Given the description of an element on the screen output the (x, y) to click on. 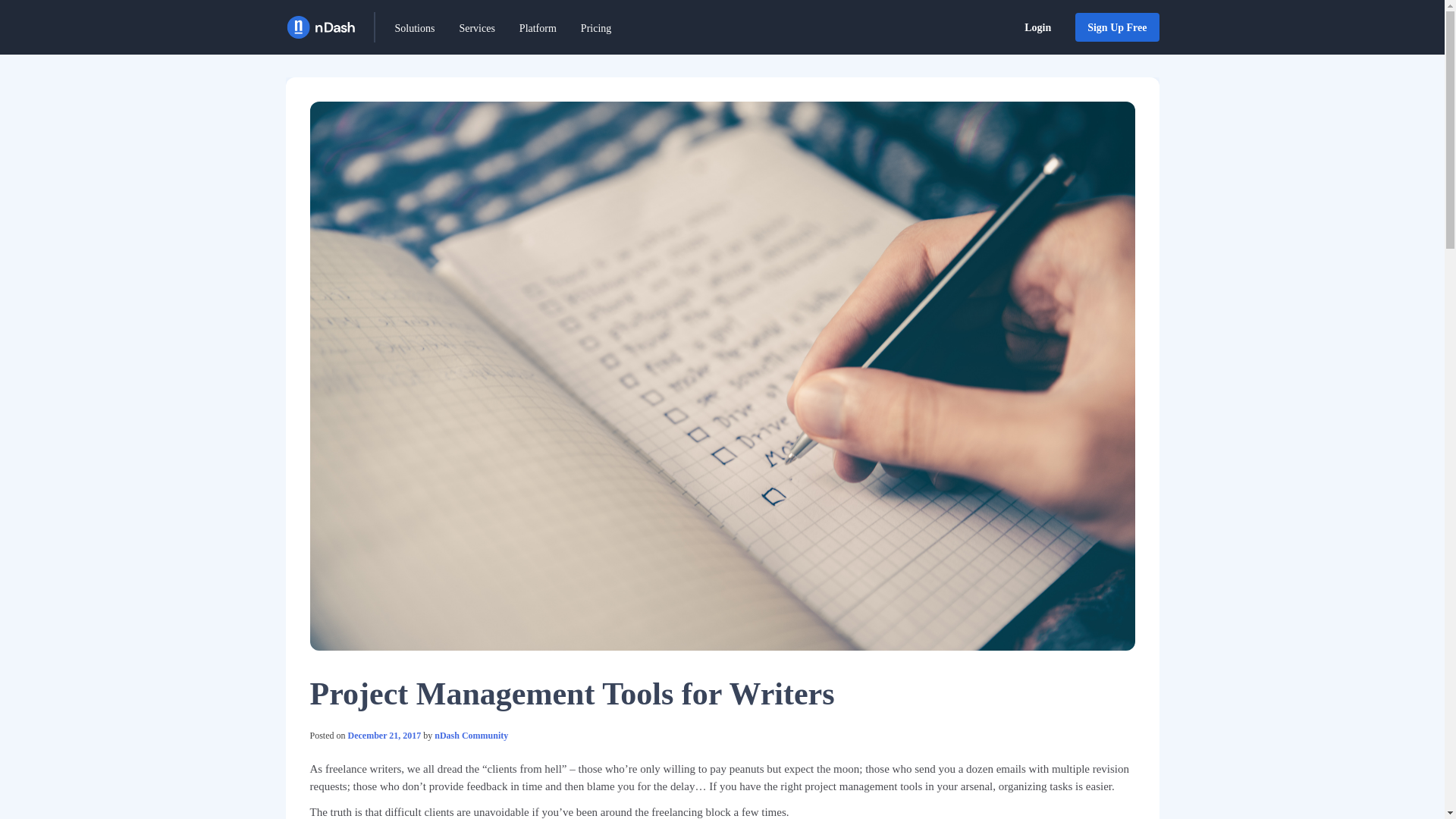
December 21, 2017 (384, 735)
Pricing (595, 28)
Solutions (413, 28)
Sign Up Free (1117, 27)
nDash Community (470, 735)
Services (476, 28)
Login (1038, 27)
Platform (537, 28)
